Given the description of an element on the screen output the (x, y) to click on. 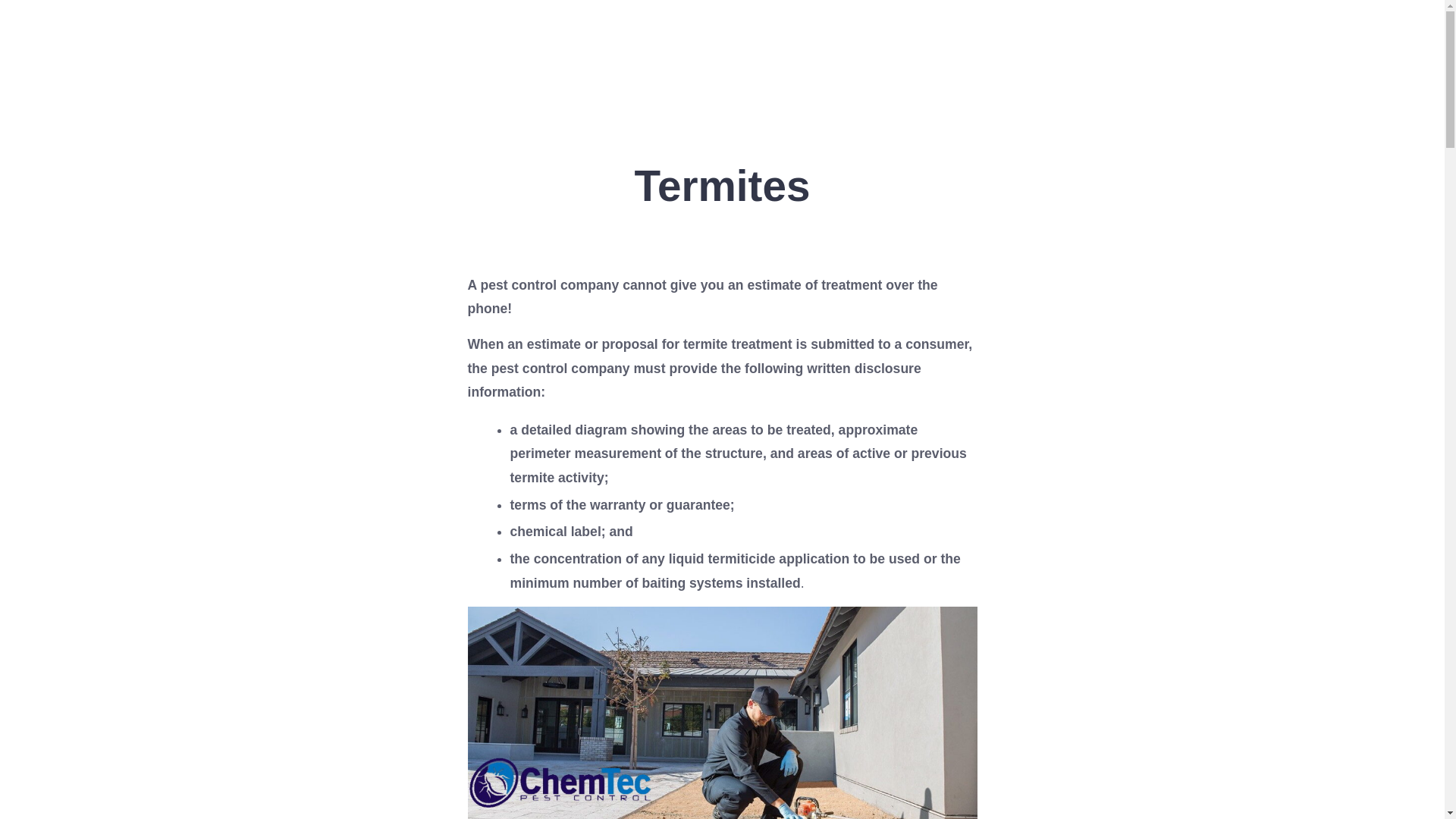
Schedule Service (940, 47)
Services (1060, 47)
Blog (1308, 47)
Search Toggle (1372, 47)
ChemTec Pest Control, Lubbock, TX (250, 47)
Home (833, 47)
Commercial Services (1192, 47)
